Given the description of an element on the screen output the (x, y) to click on. 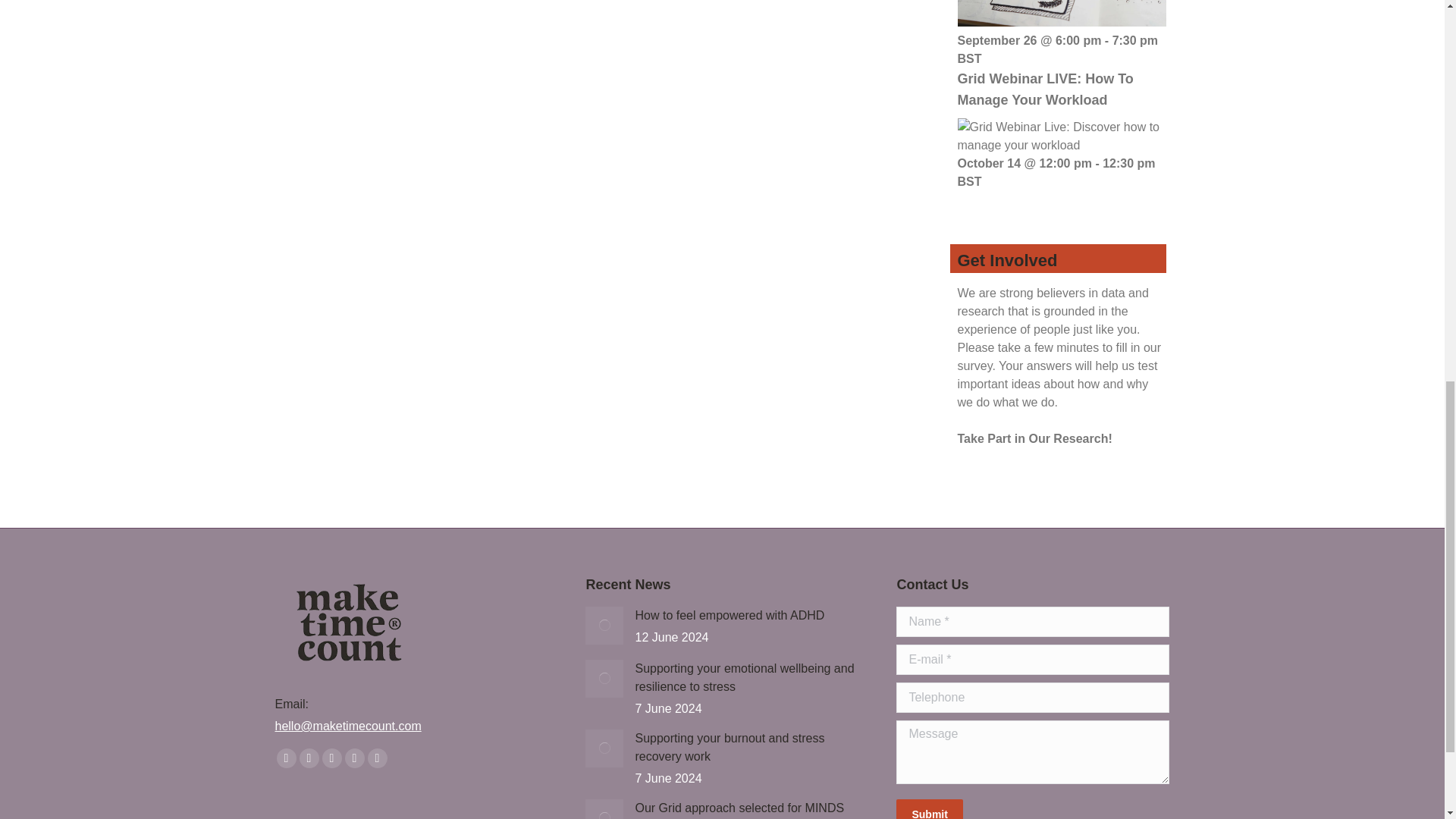
YouTube page opens in new window (330, 758)
Instagram page opens in new window (376, 758)
submit (1005, 809)
Linkedin page opens in new window (353, 758)
Facebook page opens in new window (285, 758)
X page opens in new window (308, 758)
